Given the description of an element on the screen output the (x, y) to click on. 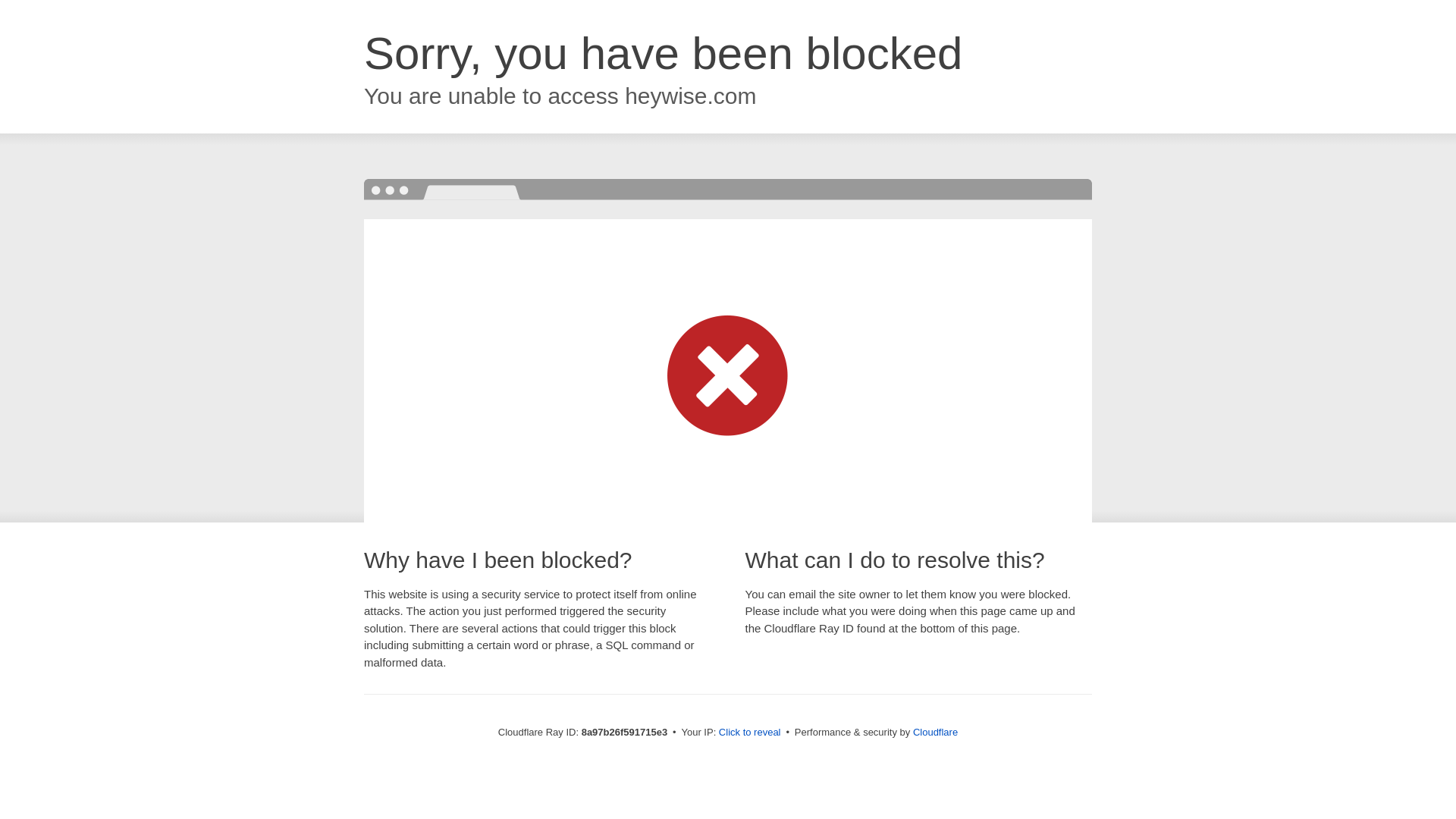
Click to reveal (749, 732)
Cloudflare (935, 731)
